Given the description of an element on the screen output the (x, y) to click on. 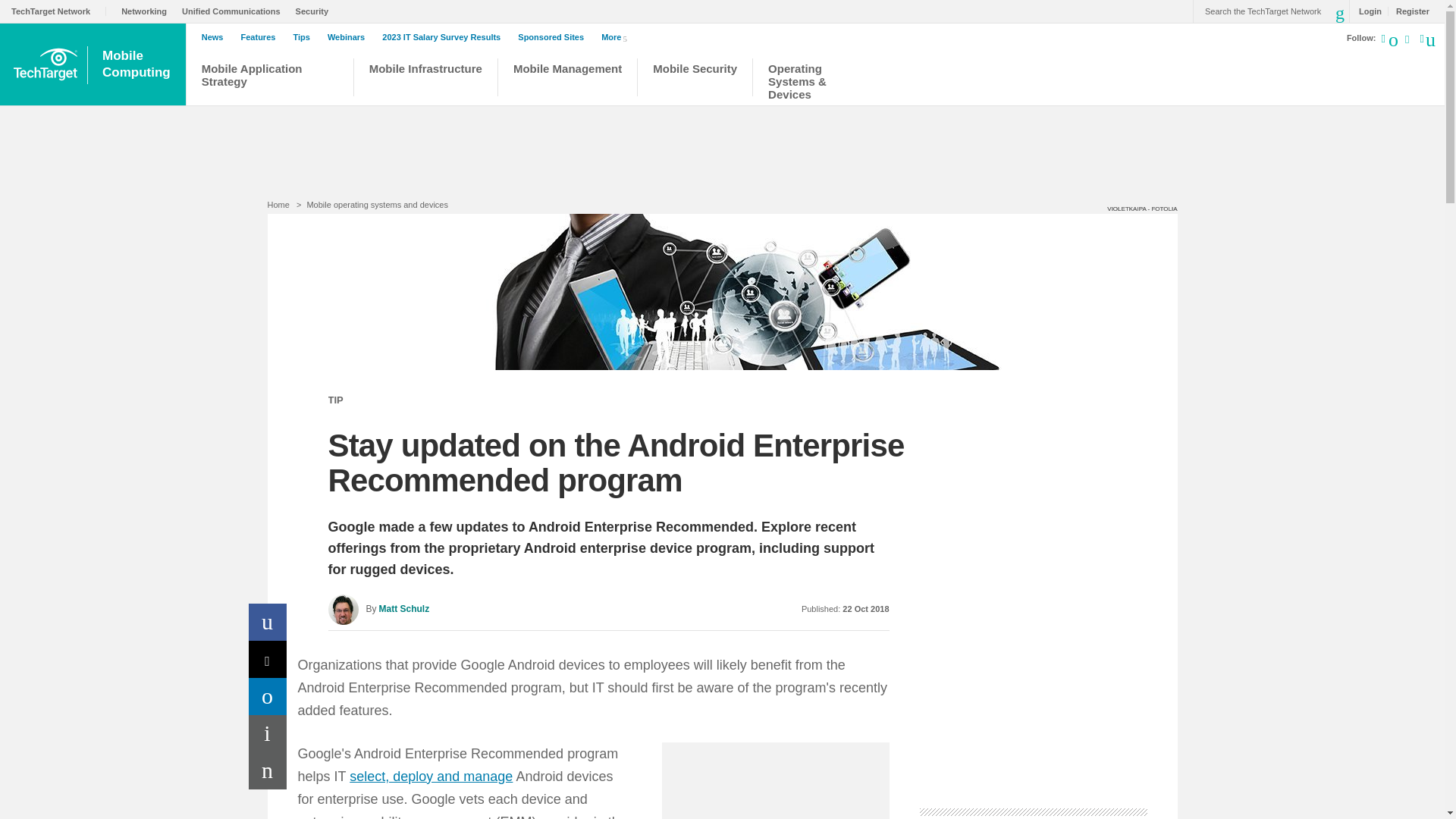
Networking (147, 10)
Mobile Security (694, 79)
Unified Communications (235, 10)
More (617, 36)
Share on LinkedIn (267, 696)
Mobile Infrastructure (425, 79)
Mobile Application Strategy (269, 79)
2023 IT Salary Survey Results (444, 36)
Register (1408, 10)
News (216, 36)
TechTarget Network (58, 10)
Login (1366, 10)
Share on X (138, 64)
Sponsored Sites (267, 659)
